Given the description of an element on the screen output the (x, y) to click on. 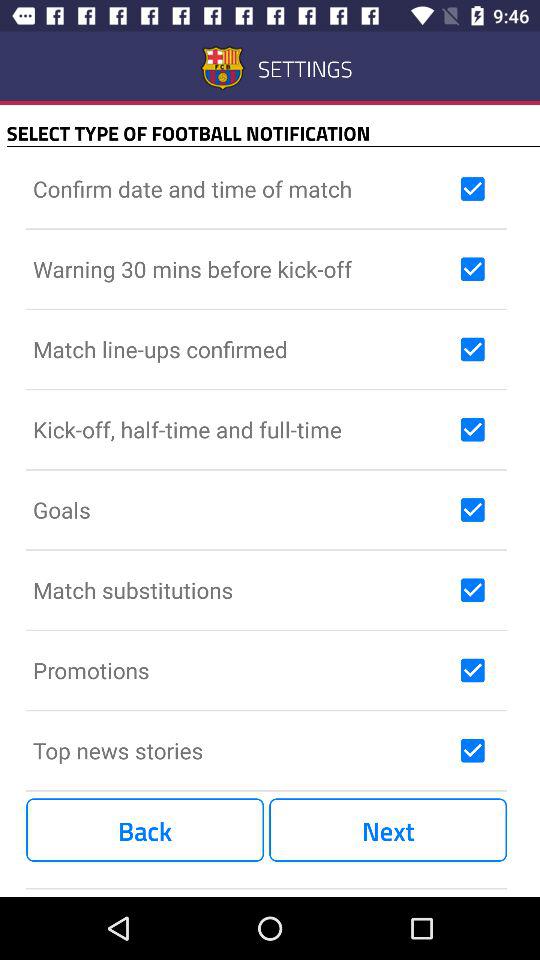
select promotions icon (242, 670)
